Given the description of an element on the screen output the (x, y) to click on. 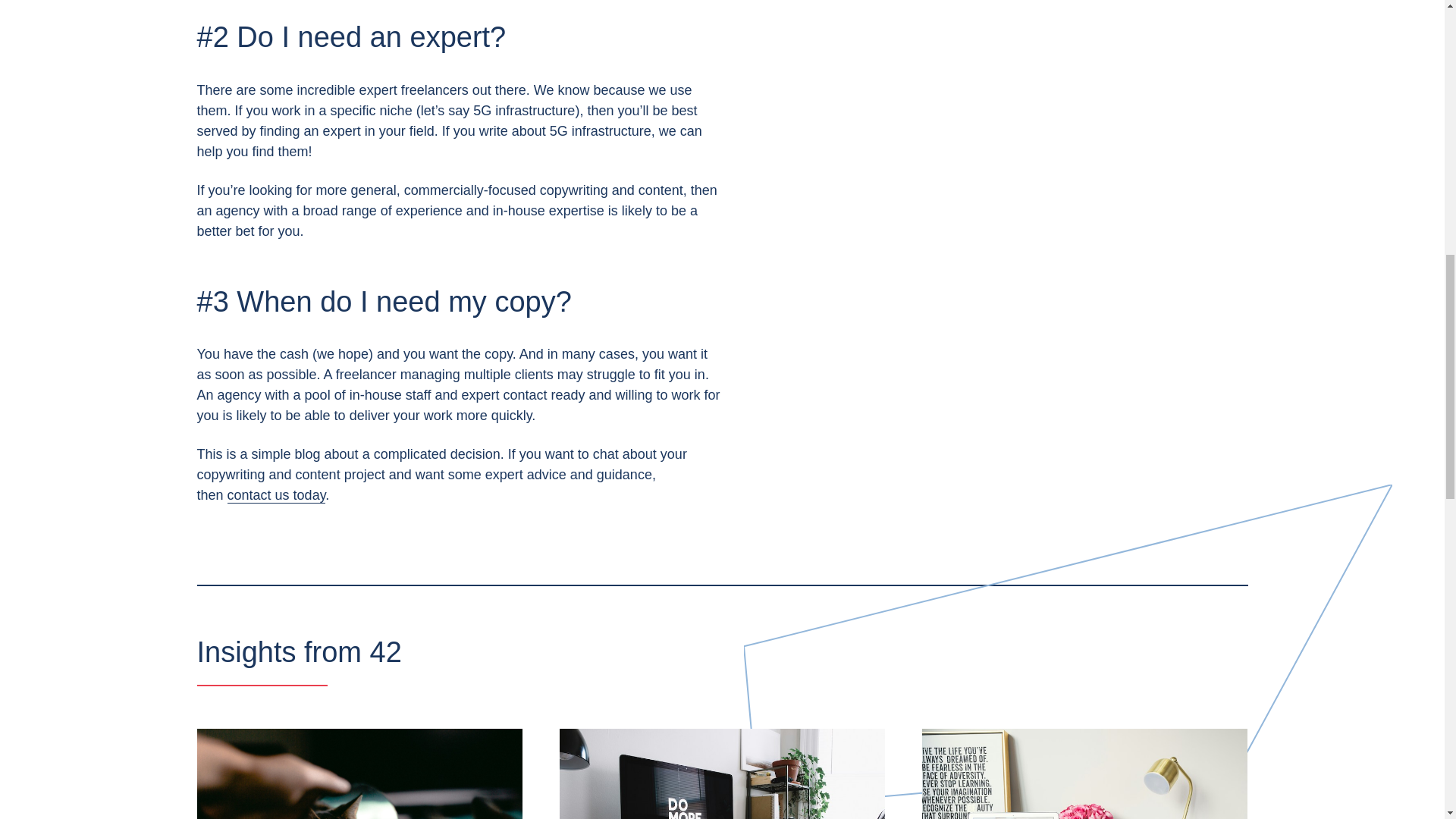
contact us today (276, 495)
